Given the description of an element on the screen output the (x, y) to click on. 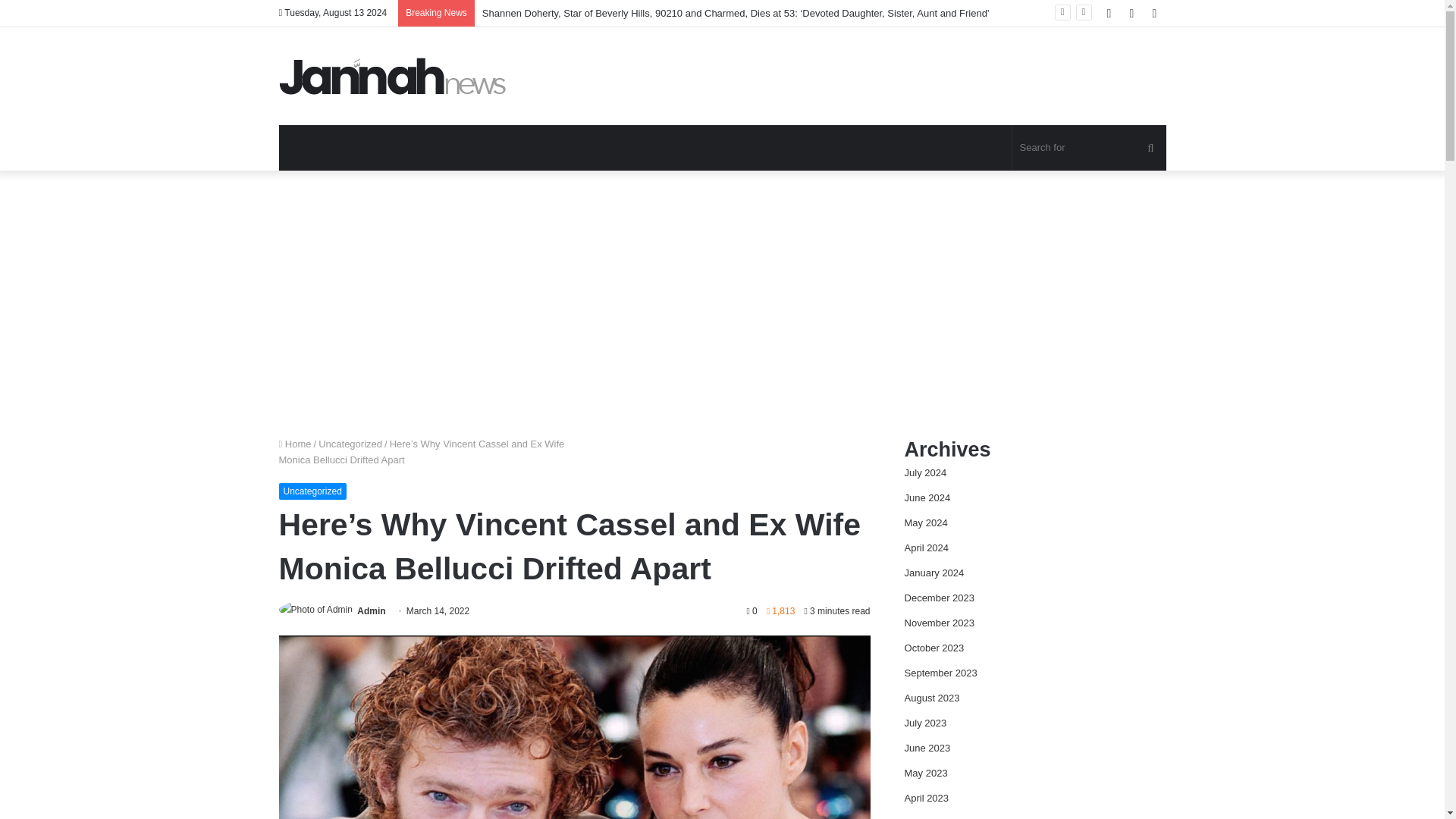
Admin (370, 611)
Home (295, 443)
Uncategorized (349, 443)
Search for (1088, 147)
Admin (370, 611)
Movie News (392, 76)
Uncategorized (312, 491)
